Given the description of an element on the screen output the (x, y) to click on. 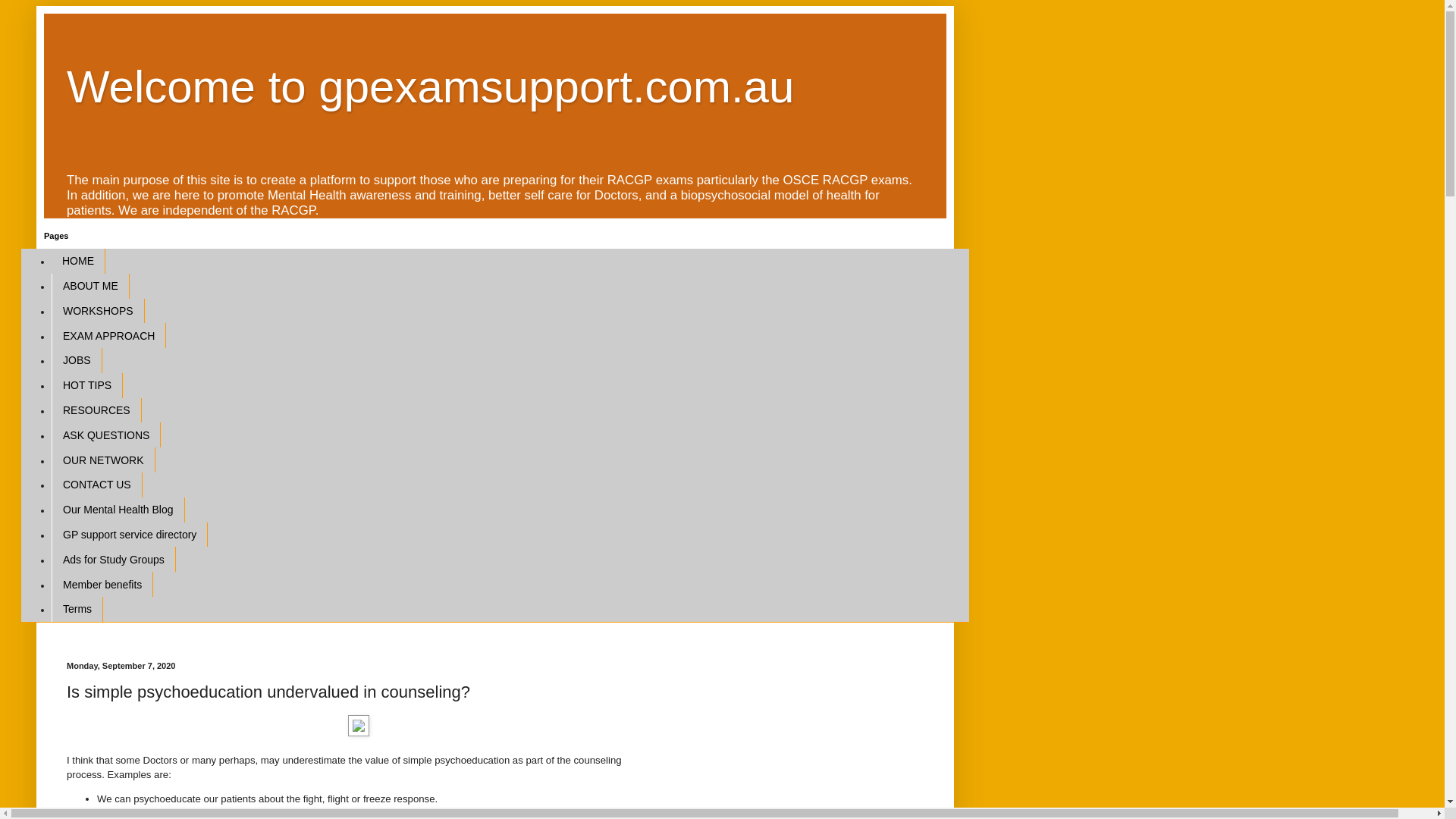
HOME Element type: text (78, 260)
JOBS Element type: text (76, 360)
GP support service directory Element type: text (129, 534)
ASK QUESTIONS Element type: text (105, 434)
Ads for Study Groups Element type: text (113, 558)
OUR NETWORK Element type: text (103, 459)
Welcome to gpexamsupport.com.au Element type: text (429, 86)
RESOURCES Element type: text (96, 410)
WORKSHOPS Element type: text (97, 310)
EXAM APPROACH Element type: text (108, 335)
Member benefits Element type: text (102, 583)
Our Mental Health Blog Element type: text (118, 509)
HOT TIPS Element type: text (86, 385)
CONTACT US Element type: text (96, 484)
Terms Element type: text (77, 608)
ABOUT ME Element type: text (90, 285)
